Given the description of an element on the screen output the (x, y) to click on. 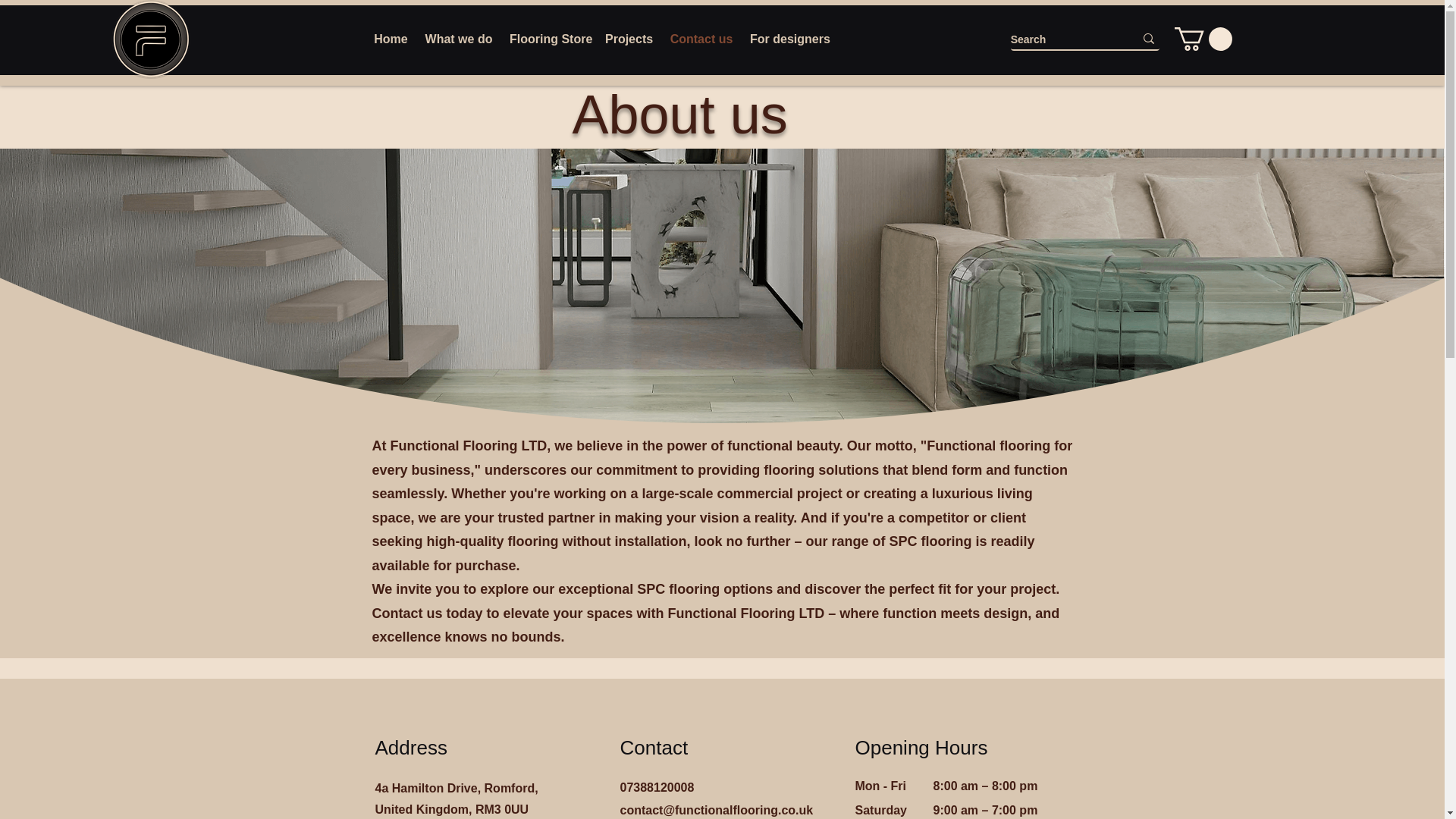
What we do (458, 39)
About us (679, 114)
Home (390, 39)
Contact us (701, 39)
Fuctional Flooring for every business (151, 39)
Projects (628, 39)
For designers (788, 39)
Flooring Store (549, 39)
